Given the description of an element on the screen output the (x, y) to click on. 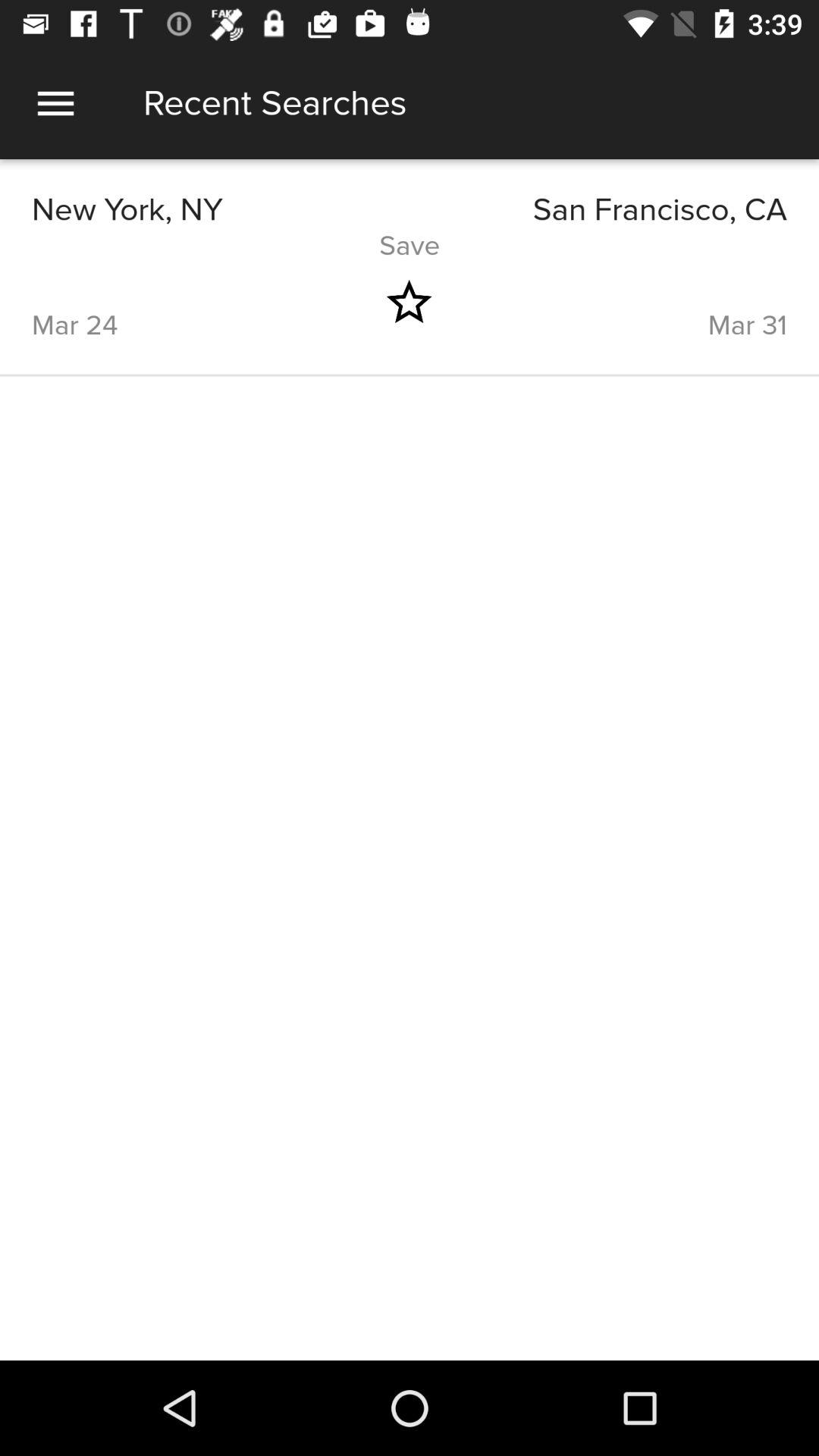
click the icon below the save (635, 302)
